Given the description of an element on the screen output the (x, y) to click on. 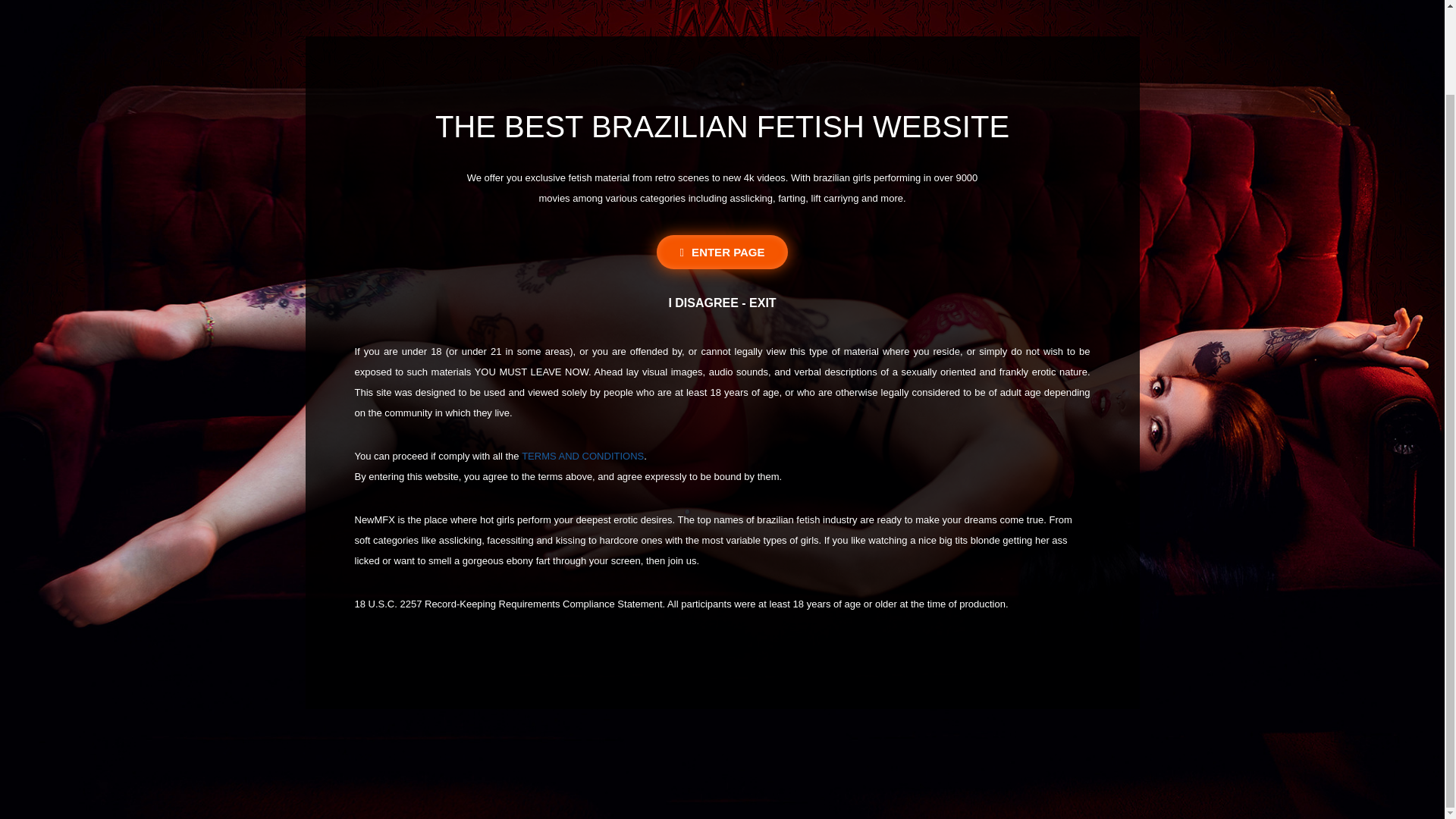
ENTER PAGE (721, 252)
New MFX (721, 1)
TERMS AND CONDITIONS (582, 455)
I DISAGREE - EXIT (722, 303)
